Given the description of an element on the screen output the (x, y) to click on. 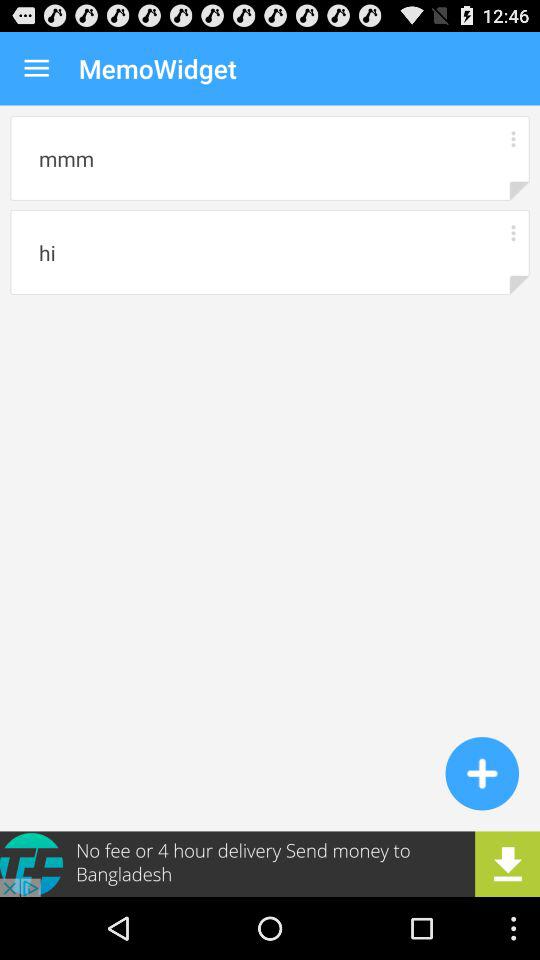
more information (512, 138)
